Given the description of an element on the screen output the (x, y) to click on. 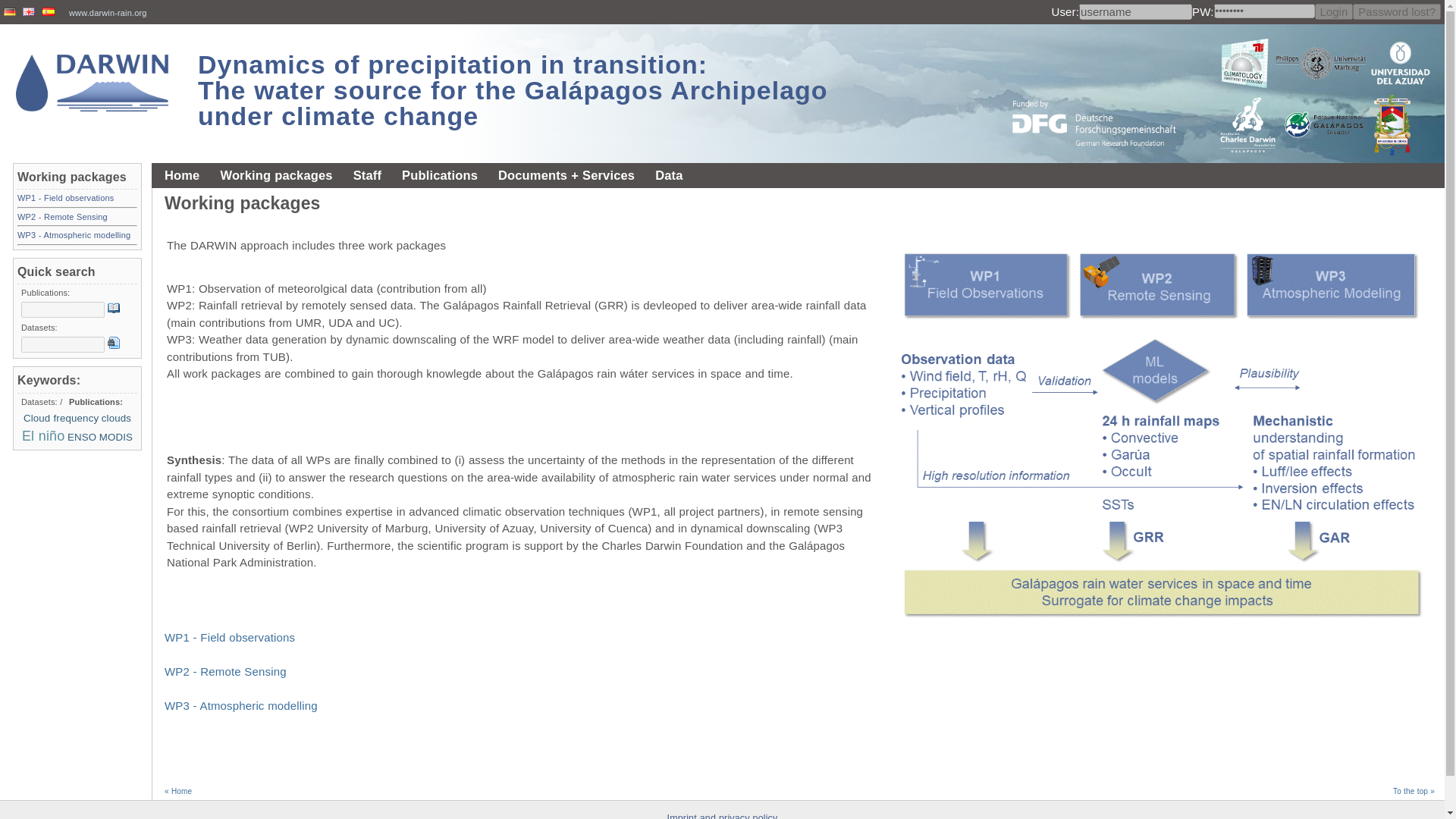
password (1264, 11)
Show publication keywords (40, 401)
Working packages (275, 175)
WP2 - Remote Sensing (225, 671)
Publications (439, 175)
DFG (1103, 88)
WP3 - Atmospheric modelling (240, 705)
Password lost? (1396, 11)
www.darwin-rain.org (109, 12)
Staff (367, 175)
WP2 - Remote Sensing (62, 216)
home (92, 82)
Home (181, 175)
WP1 - Field observations (229, 636)
Show dataset keywords (95, 401)
